Given the description of an element on the screen output the (x, y) to click on. 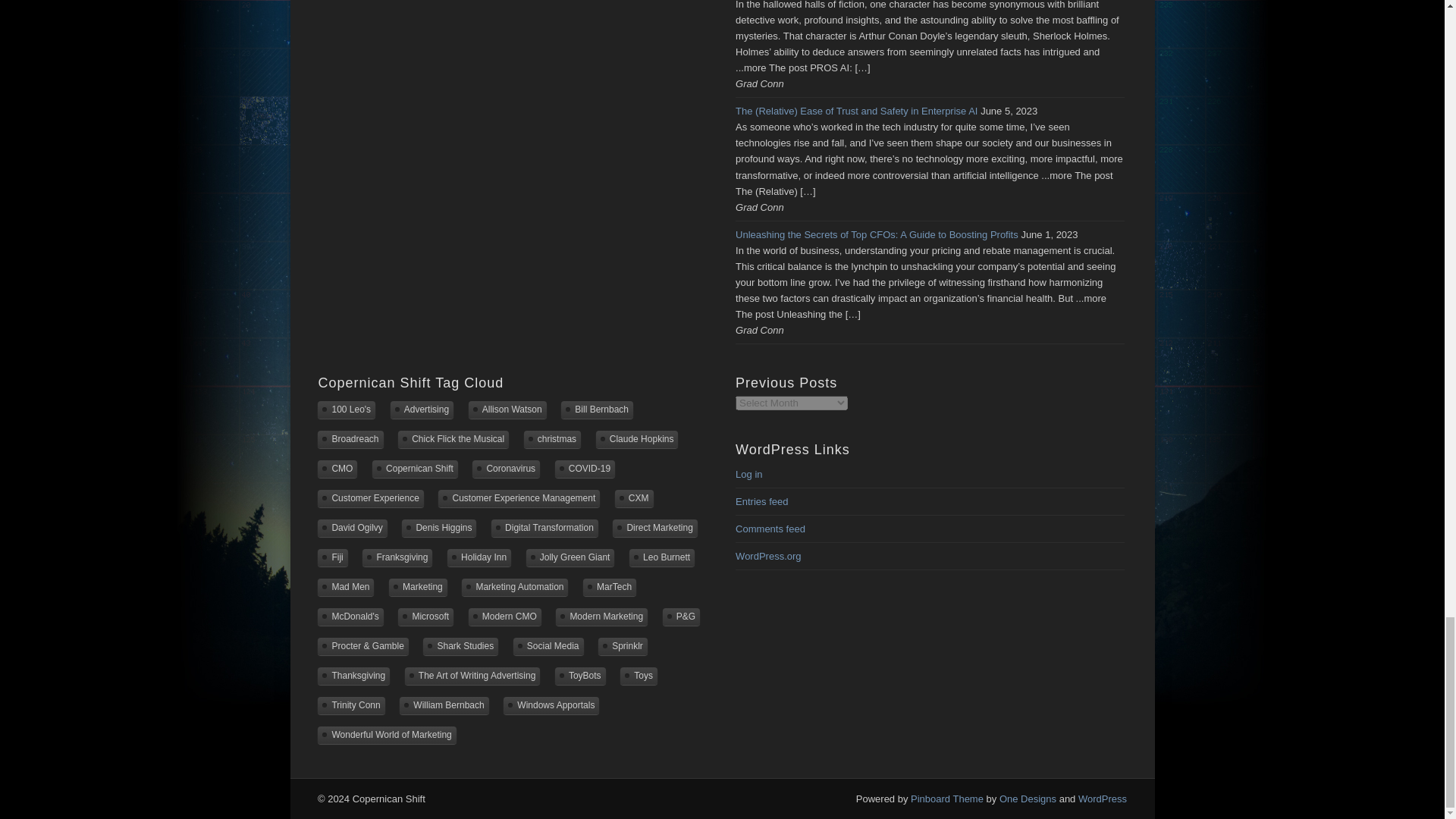
WordPress (1102, 798)
One Designs (1027, 798)
Pinboard Theme (947, 798)
